Given the description of an element on the screen output the (x, y) to click on. 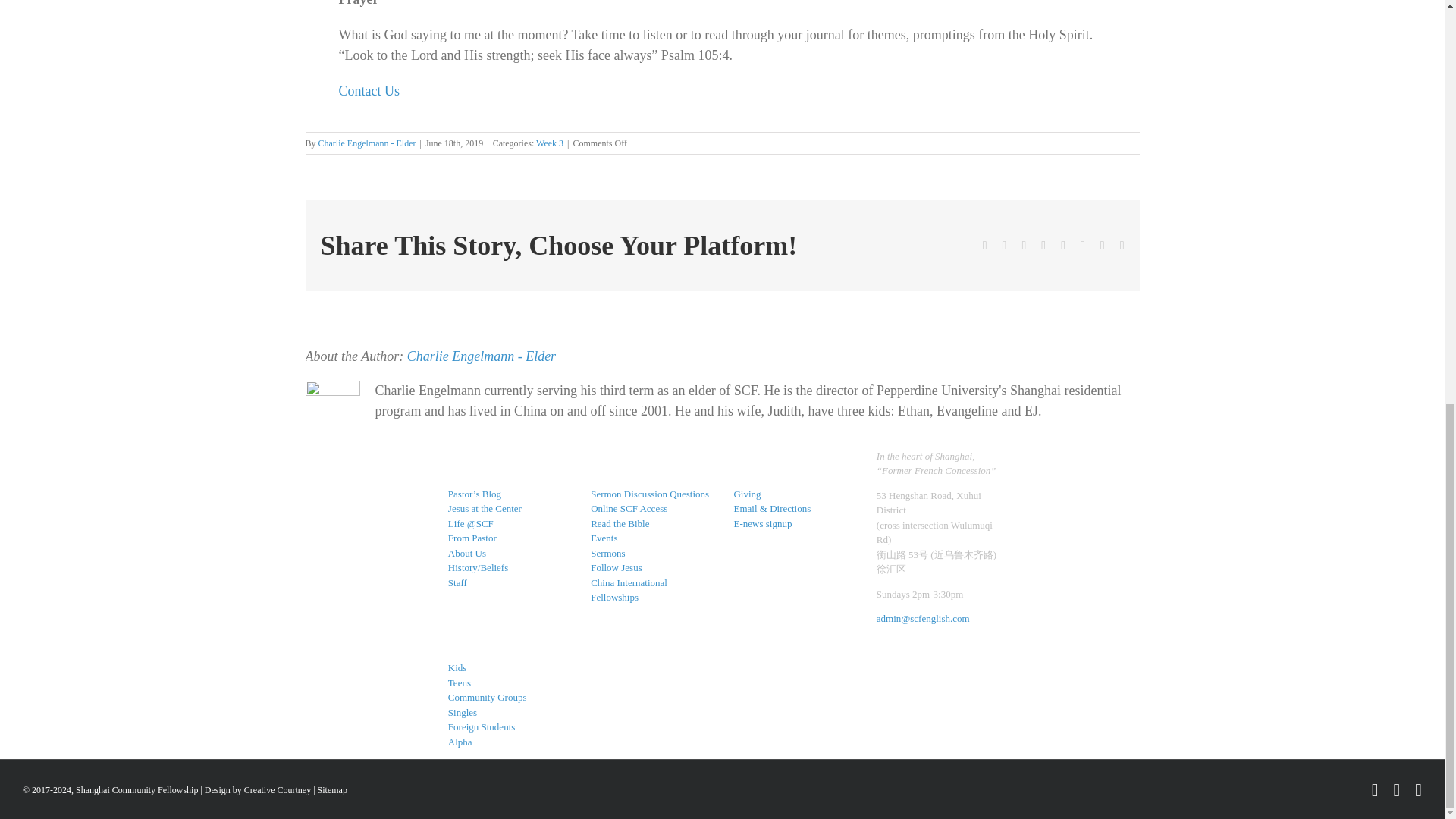
Week 3 (549, 143)
Contact Us (367, 90)
Charlie Engelmann - Elder (367, 143)
Posts by Charlie Engelmann - Elder (367, 143)
Posts by Charlie Engelmann - Elder (481, 355)
